Given the description of an element on the screen output the (x, y) to click on. 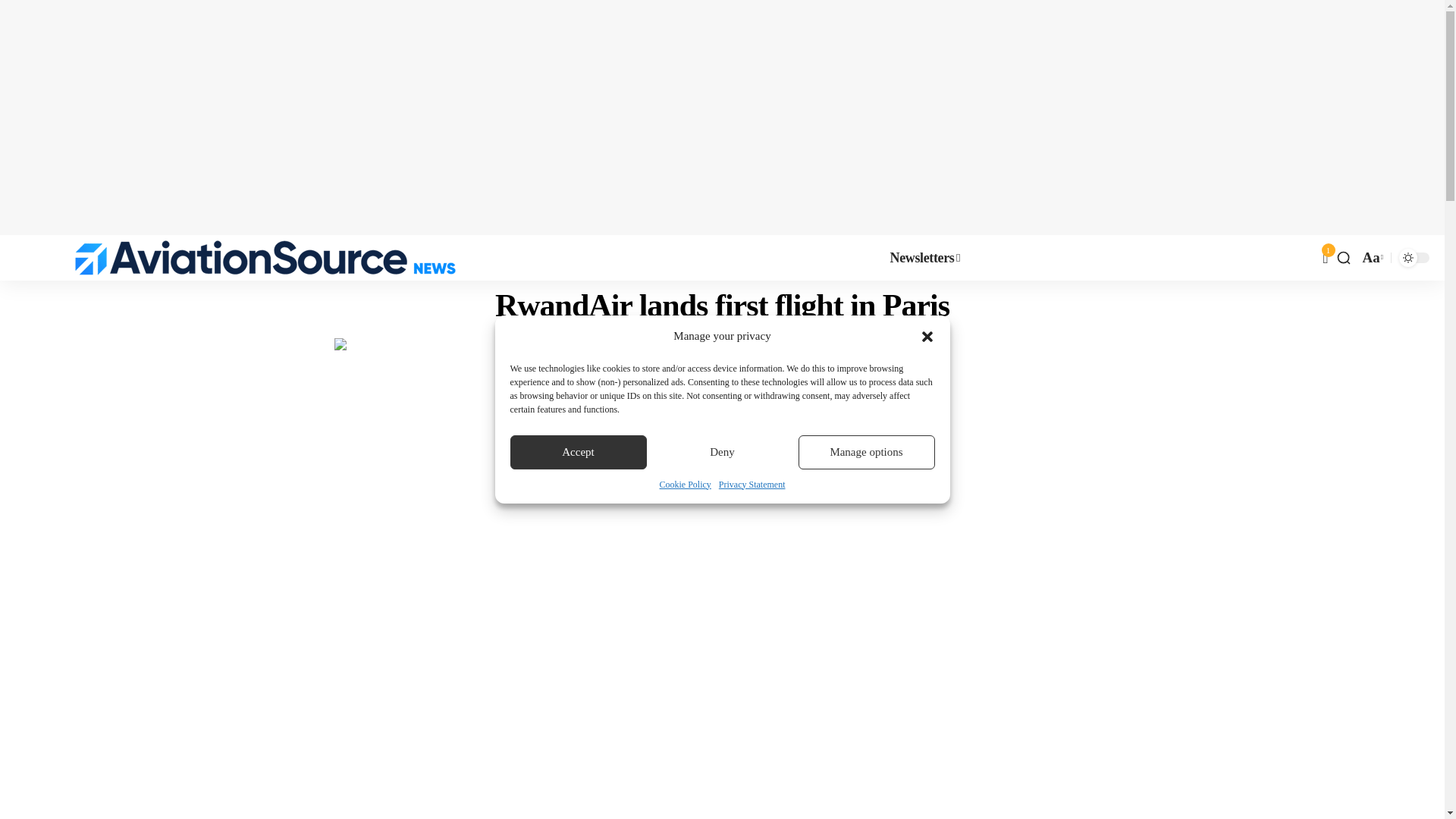
Privacy Statement (752, 484)
Newsletters (924, 257)
Manage options (865, 451)
Aa (1371, 257)
Deny (721, 451)
AviationSource News (264, 257)
Accept (577, 451)
Cookie Policy (685, 484)
